Given the description of an element on the screen output the (x, y) to click on. 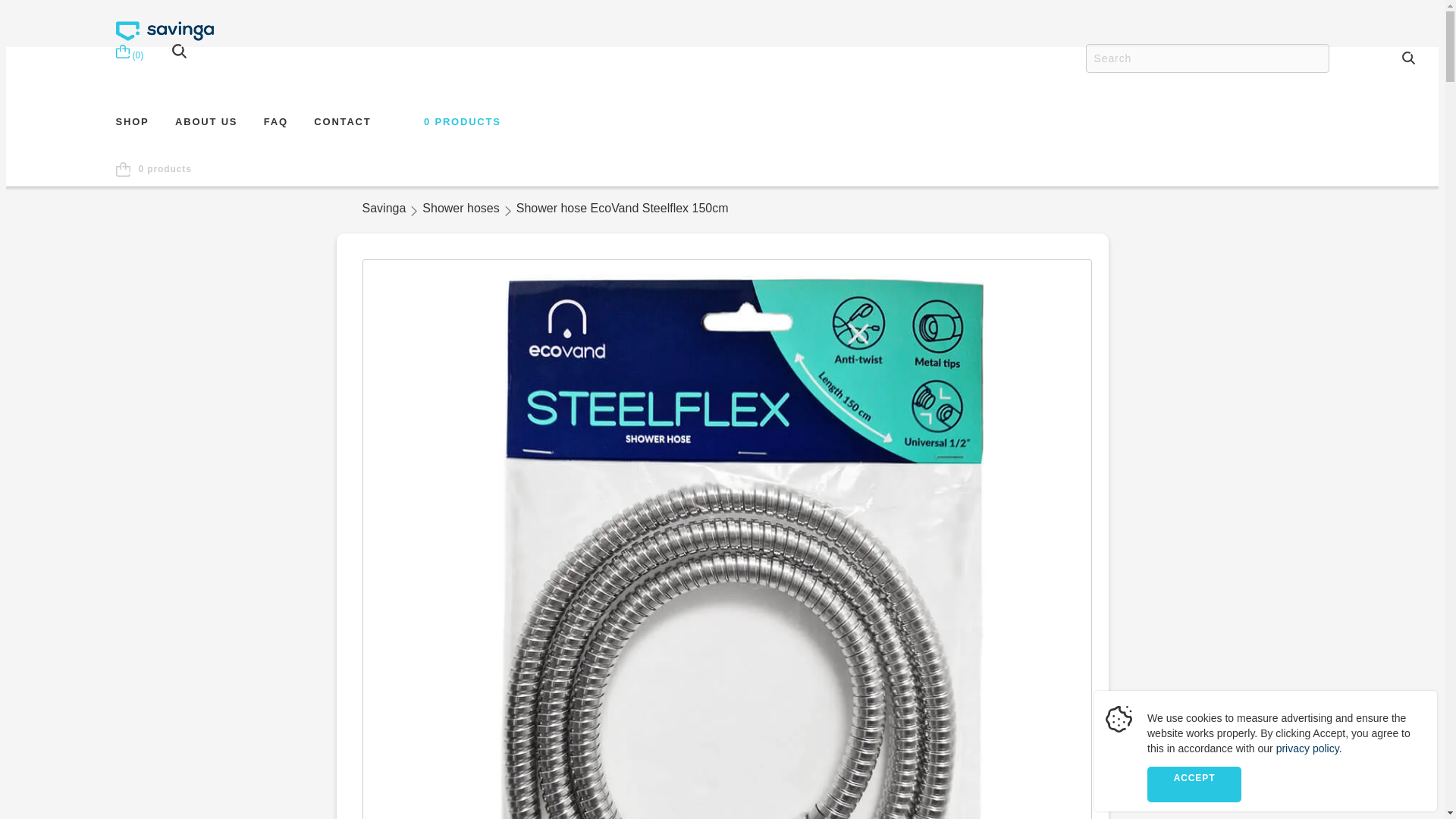
CONTACT (342, 127)
Savinga (384, 209)
SHOP (131, 127)
Shower hoses (460, 209)
FAQ (275, 127)
0 products (152, 174)
0 PRODUCTS (448, 119)
ABOUT US (205, 127)
